Given the description of an element on the screen output the (x, y) to click on. 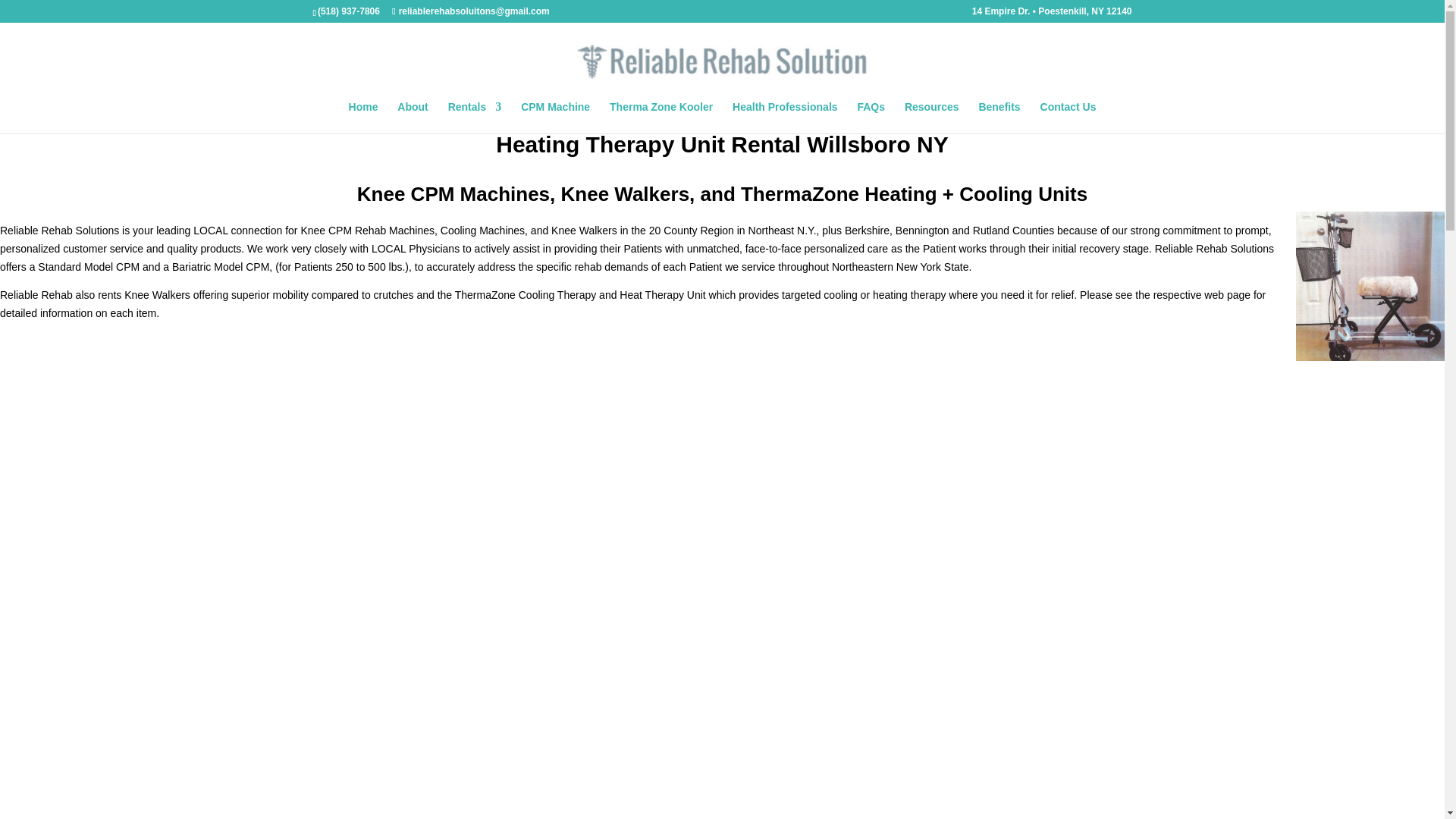
FAQs (871, 117)
Resources (931, 117)
Rentals (475, 117)
Therma Zone Kooler (661, 117)
Contact Us (1068, 117)
About (412, 117)
Health Professionals (785, 117)
CPM Machine (555, 117)
Benefits (999, 117)
Home (363, 117)
